Given the description of an element on the screen output the (x, y) to click on. 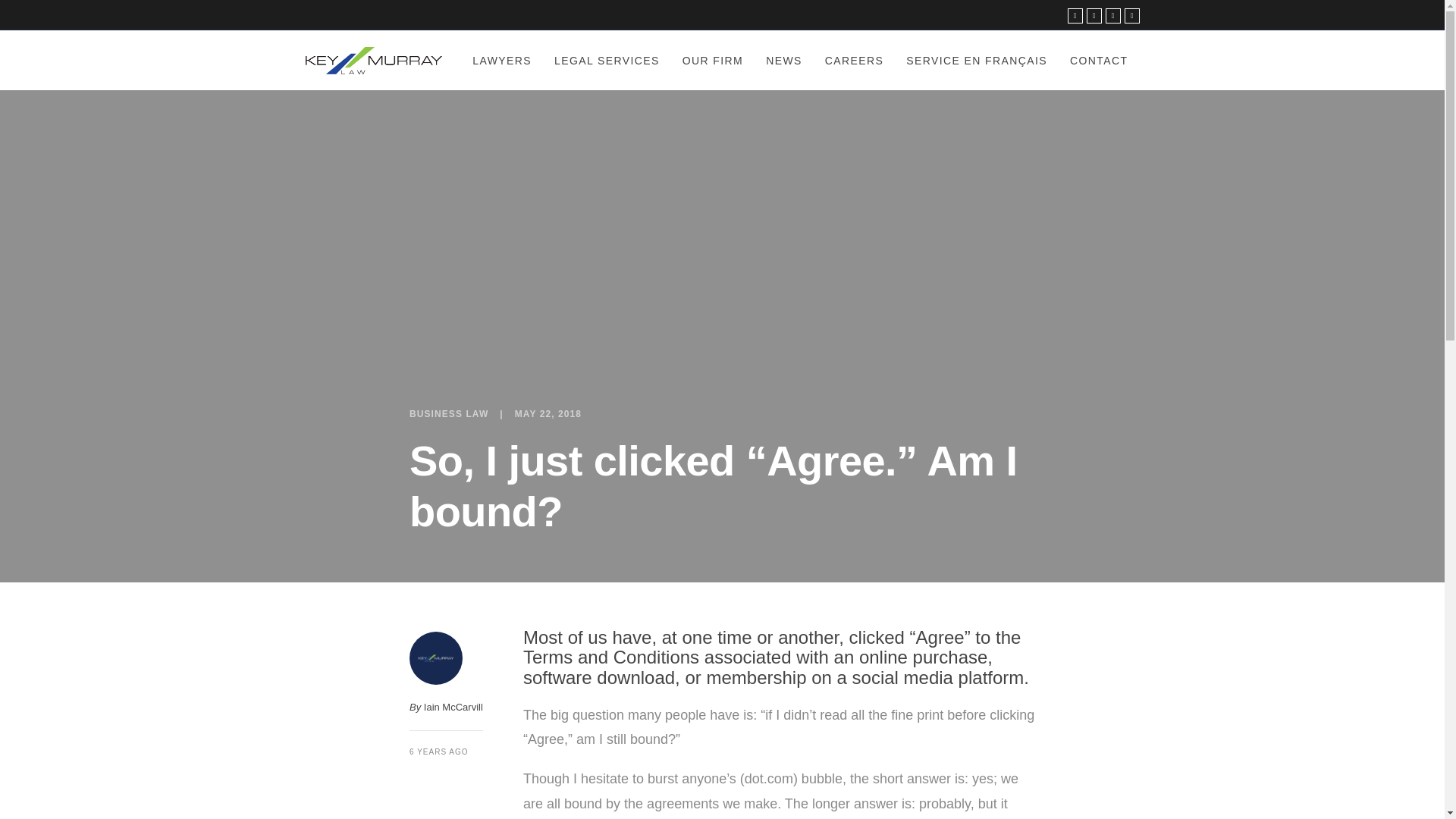
LAWYERS (502, 60)
Business Law (448, 413)
Posts by Iain McCarvill (453, 706)
NEWS (783, 60)
LEGAL SERVICES (607, 60)
CAREERS (854, 60)
OUR FIRM (712, 60)
CONTACT (1098, 60)
